Given the description of an element on the screen output the (x, y) to click on. 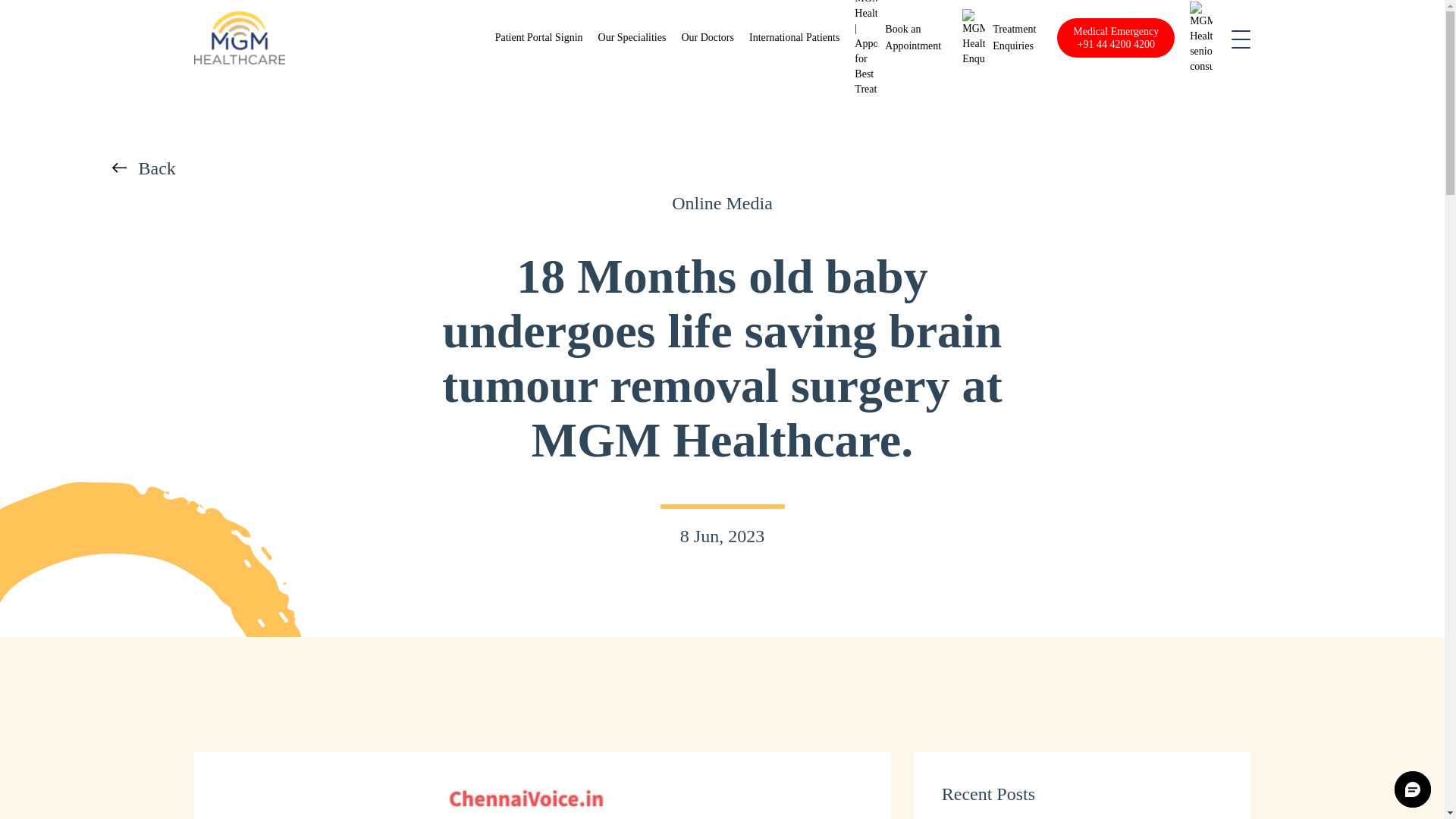
Our Specialities (632, 37)
MGM Healthcare (239, 37)
Patient Portal Signin (539, 37)
Our Doctors (707, 37)
MGM Emergency Number (1115, 37)
Contact Us (1013, 37)
International Patients (1013, 37)
International Patients (794, 37)
Our Doctors (794, 37)
